Given the description of an element on the screen output the (x, y) to click on. 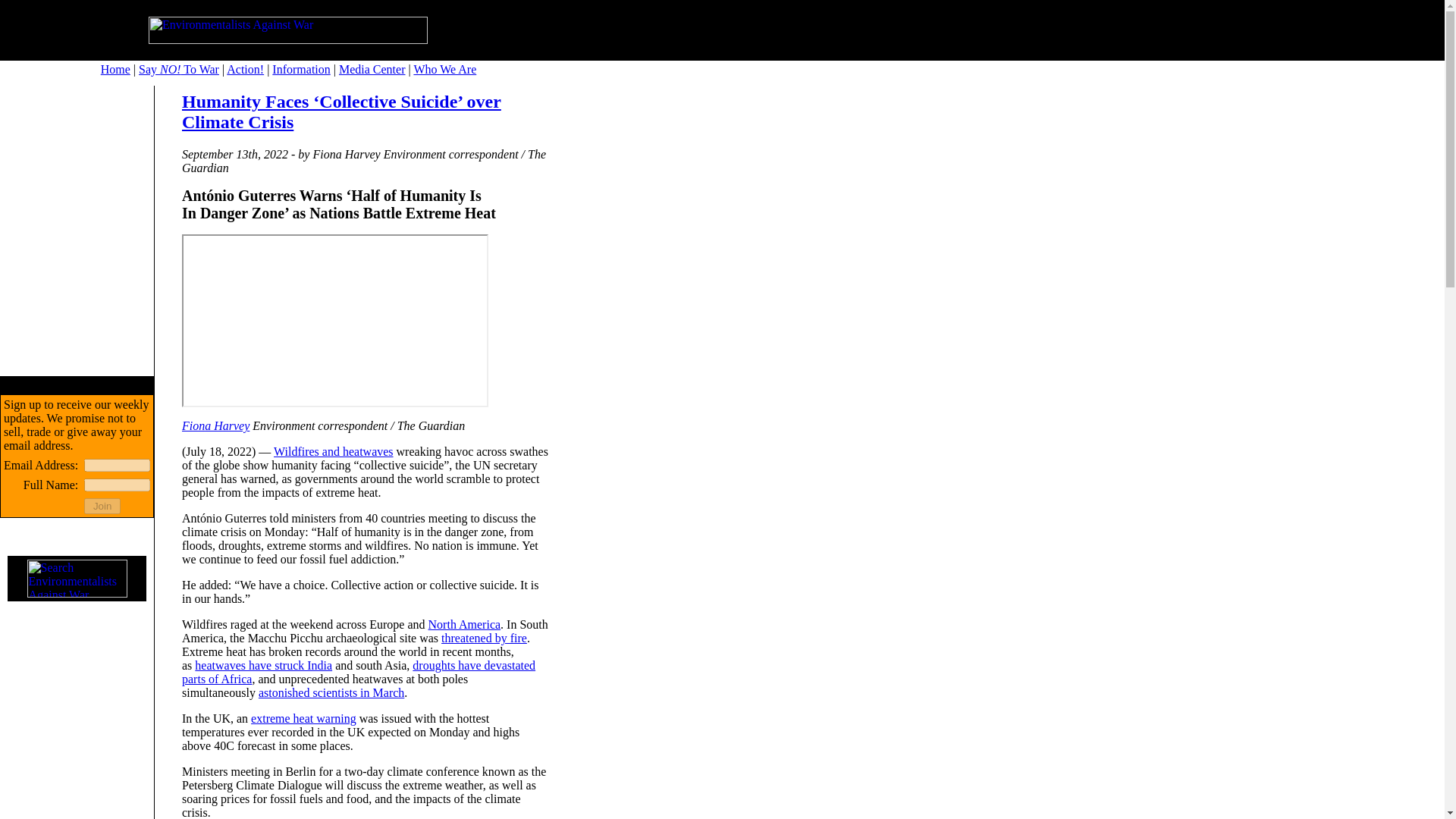
North America (464, 624)
 Join  (102, 505)
droughts have devastated parts of Africa (358, 672)
Wildfires and heatwaves (333, 451)
Who We Are (444, 69)
Information (301, 69)
heatwaves have struck India (263, 665)
Fiona Harvey (215, 425)
 Join  (102, 505)
Home (115, 69)
threatened by fire (484, 637)
Say NO! To War (178, 69)
Action! (245, 69)
Media Center (372, 69)
extreme heat warning (303, 717)
